Given the description of an element on the screen output the (x, y) to click on. 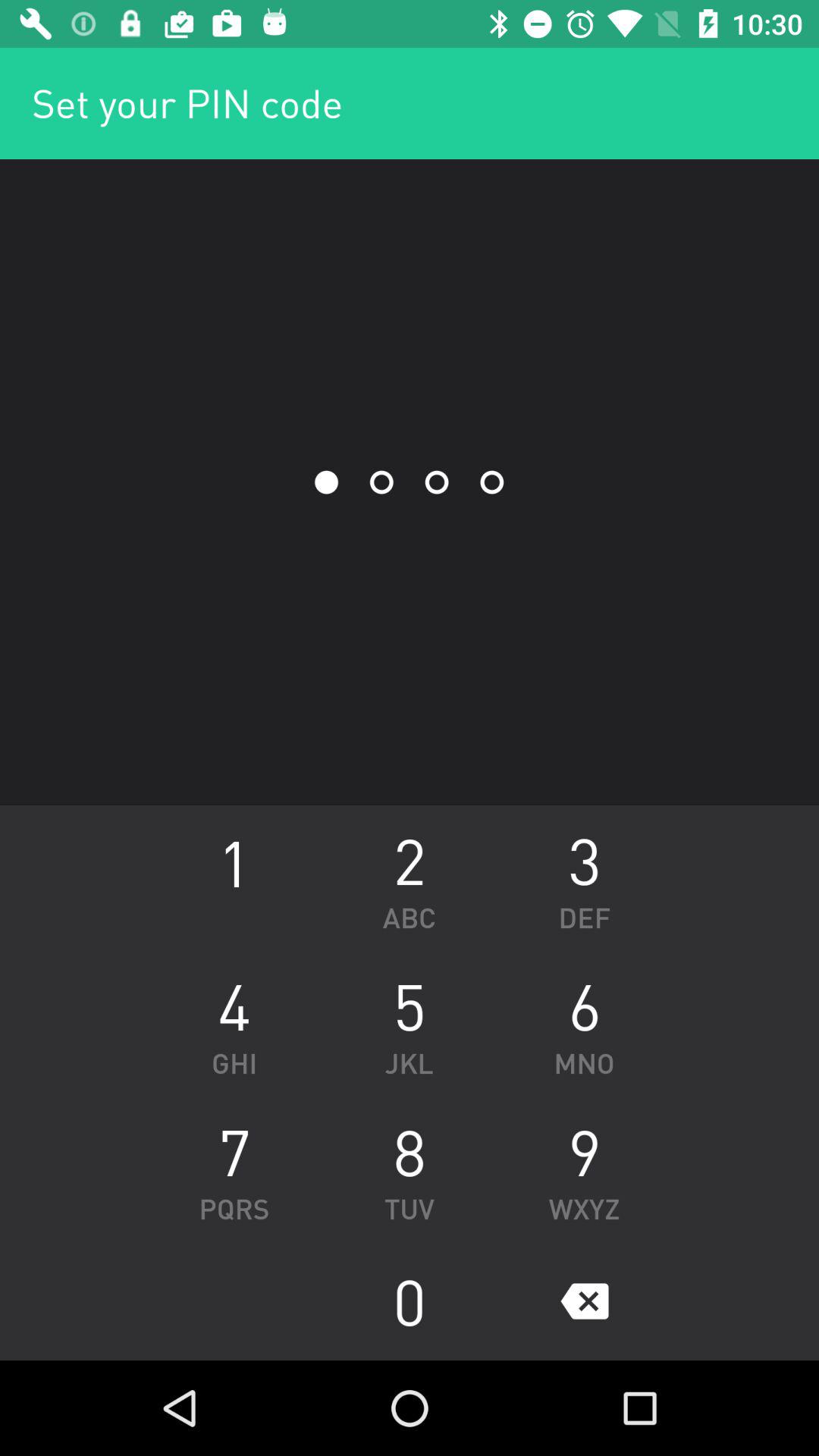
turn on item below the tuv item (409, 1301)
